Given the description of an element on the screen output the (x, y) to click on. 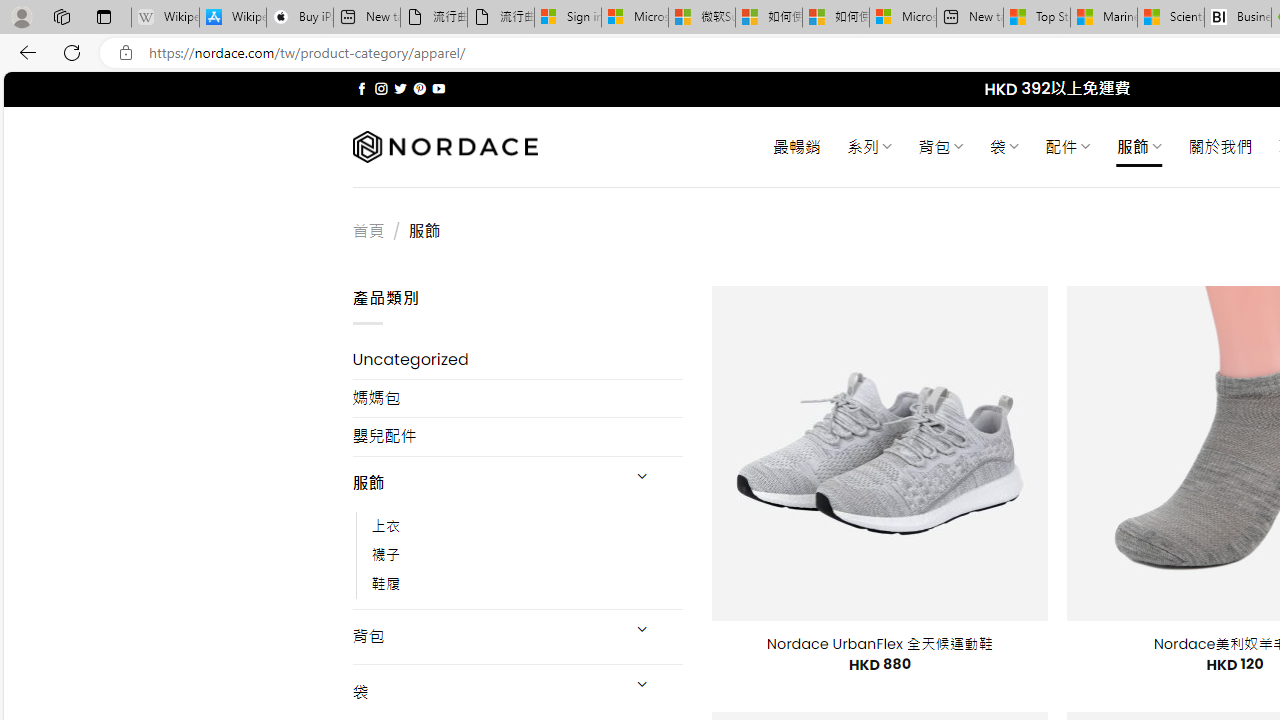
Top Stories - MSN (1036, 17)
